Given the description of an element on the screen output the (x, y) to click on. 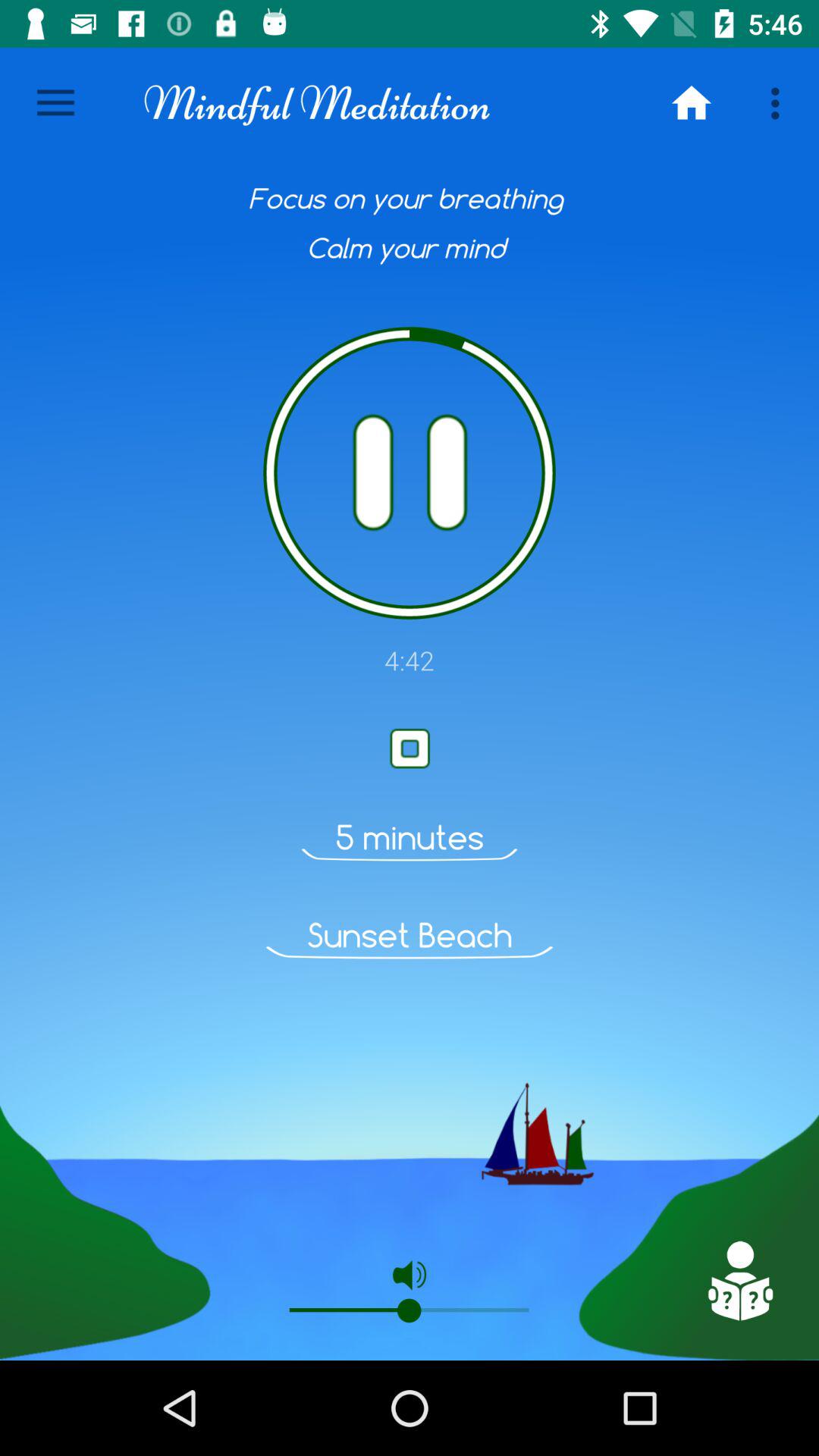
turn on icon below the 4:22 (739, 1280)
